Given the description of an element on the screen output the (x, y) to click on. 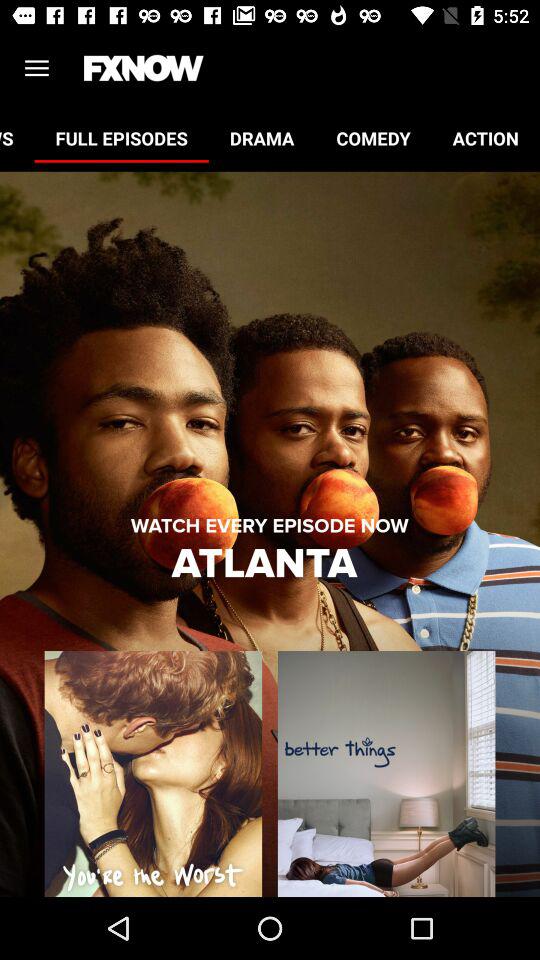
click the item next to the drama (121, 138)
